Given the description of an element on the screen output the (x, y) to click on. 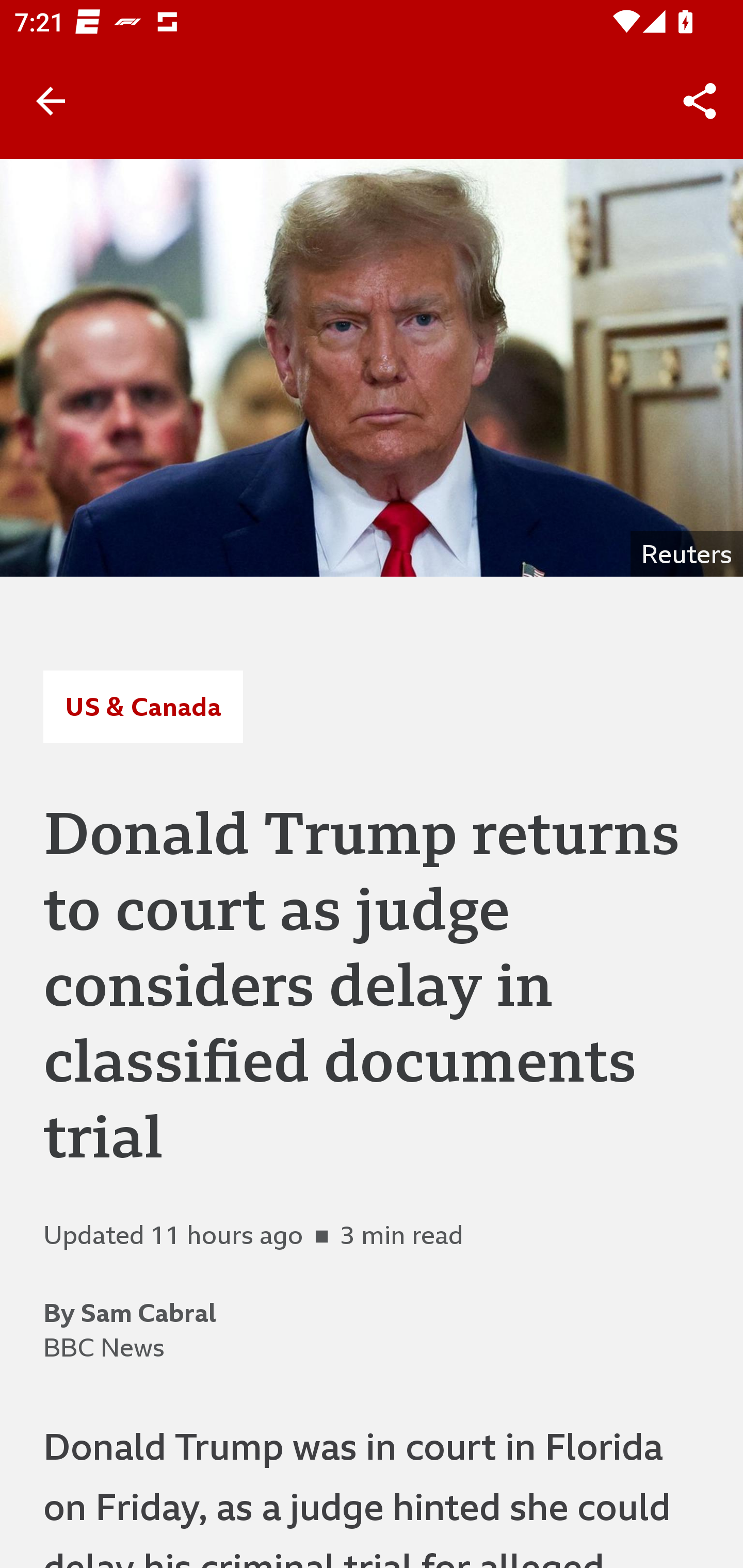
Back (50, 101)
Share (699, 101)
US & Canada (142, 706)
